Given the description of an element on the screen output the (x, y) to click on. 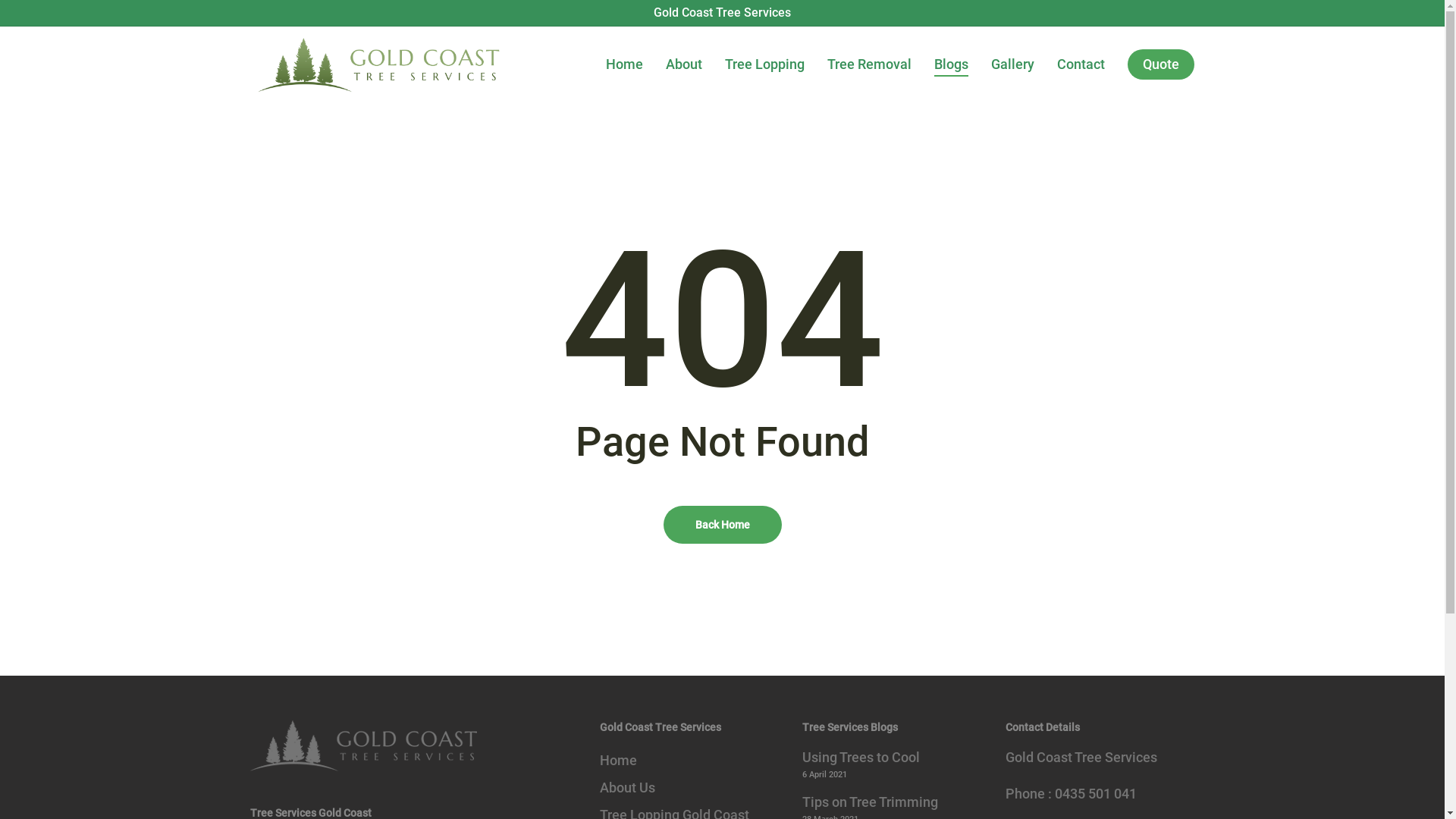
Home Element type: text (624, 64)
Tree Removal Element type: text (869, 64)
About Element type: text (683, 64)
Back Home Element type: text (721, 523)
About Us Element type: text (691, 787)
Gallery Element type: text (1012, 64)
Quote Element type: text (1160, 64)
Blogs Element type: text (951, 64)
Contact Element type: text (1080, 64)
Using Trees to Cool Element type: text (894, 757)
Tree Lopping Element type: text (764, 64)
Home Element type: text (691, 760)
Tips on Tree Trimming Element type: text (894, 801)
